Given the description of an element on the screen output the (x, y) to click on. 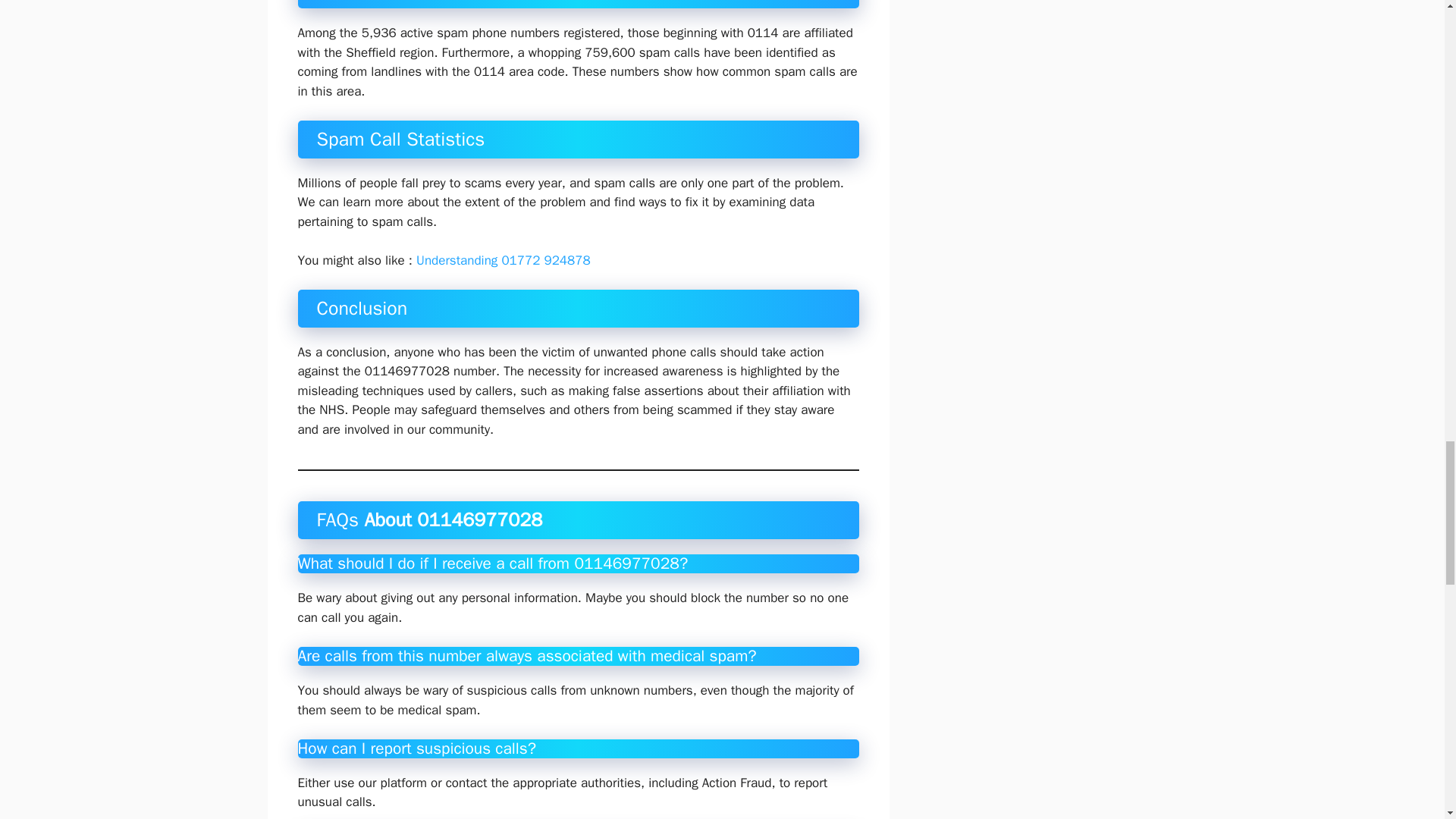
Understanding 01772 924878 (503, 260)
